Given the description of an element on the screen output the (x, y) to click on. 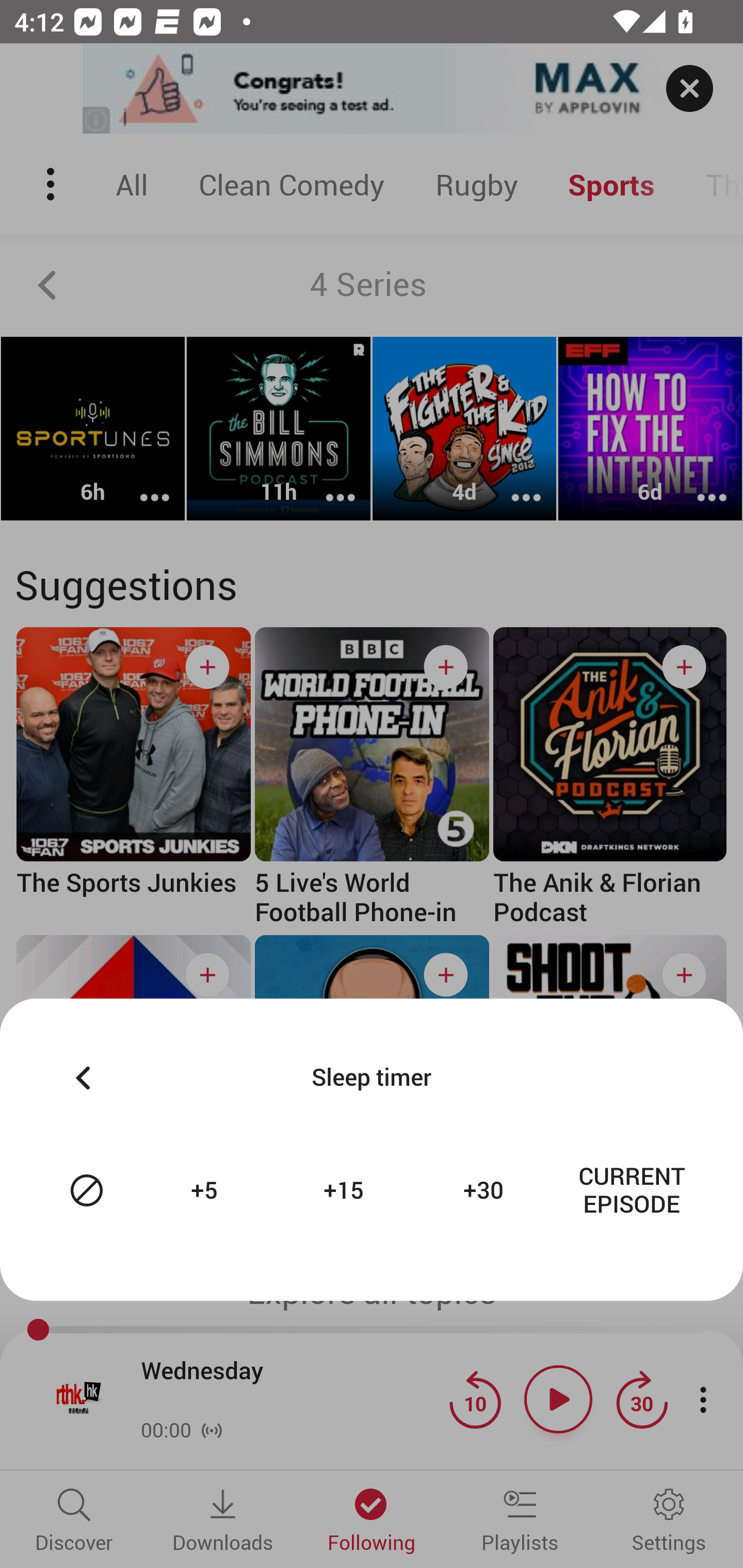
Reset (86, 1190)
+5  (206, 1190)
+15  (346, 1190)
+30  (486, 1190)
CURRENT
EPISODE (631, 1190)
